Given the description of an element on the screen output the (x, y) to click on. 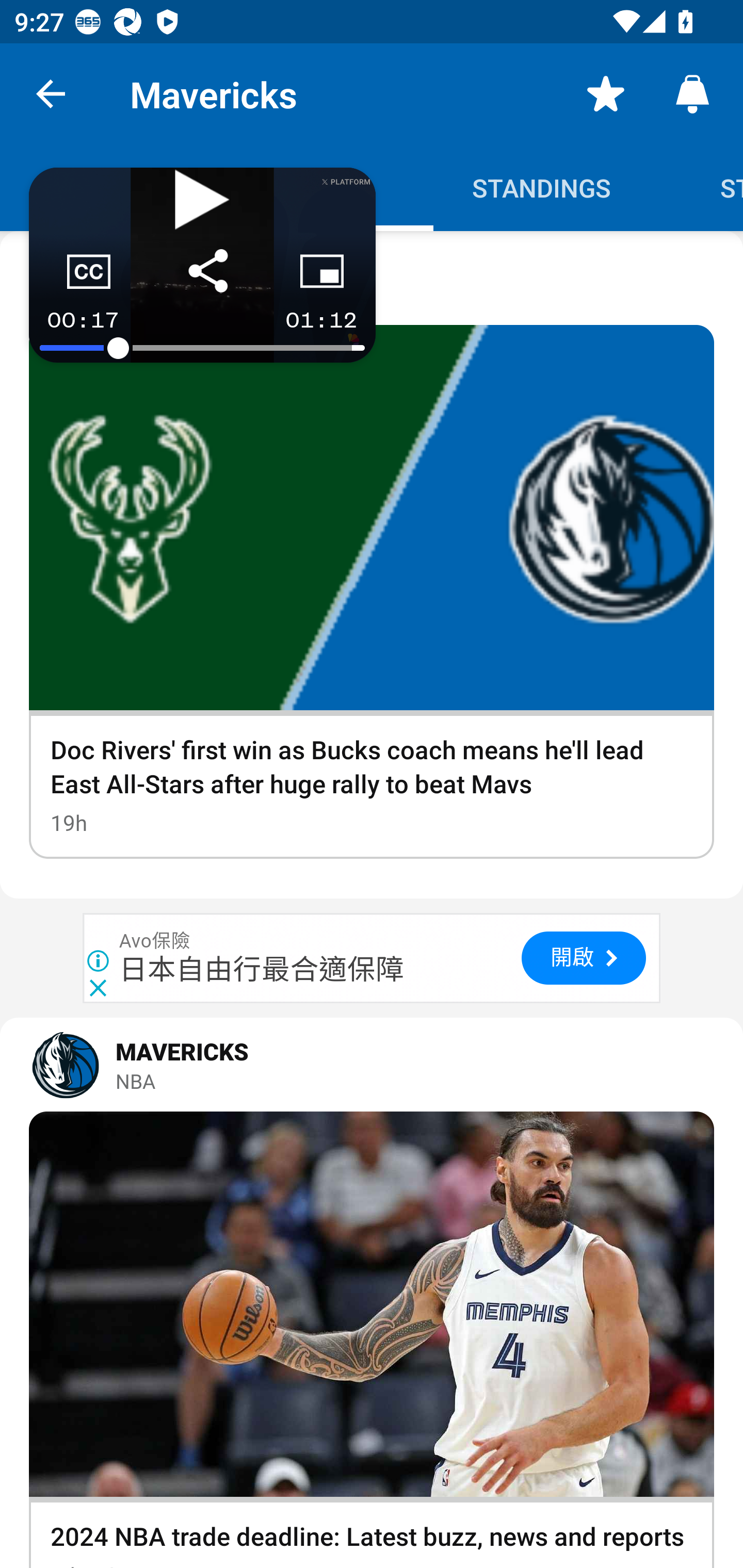
back.button (50, 93)
Favorite toggle (605, 93)
Alerts (692, 93)
Standings STANDINGS (541, 187)
Avo保險 (155, 940)
開啟 (583, 957)
日本自由行最合適保障 (261, 969)
MAVERICKS NBA (371, 1064)
